Given the description of an element on the screen output the (x, y) to click on. 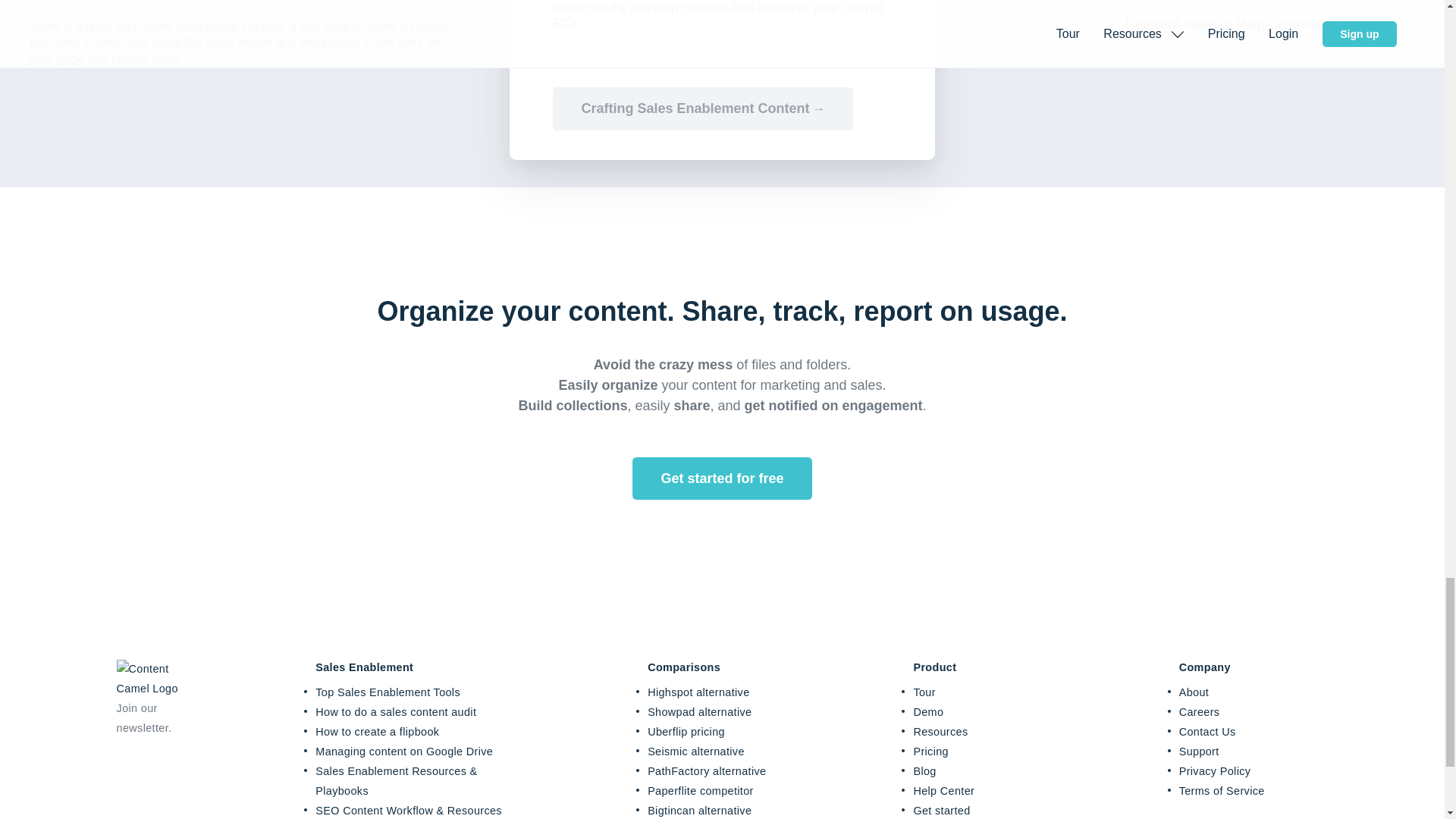
Go to homepage (157, 688)
